Given the description of an element on the screen output the (x, y) to click on. 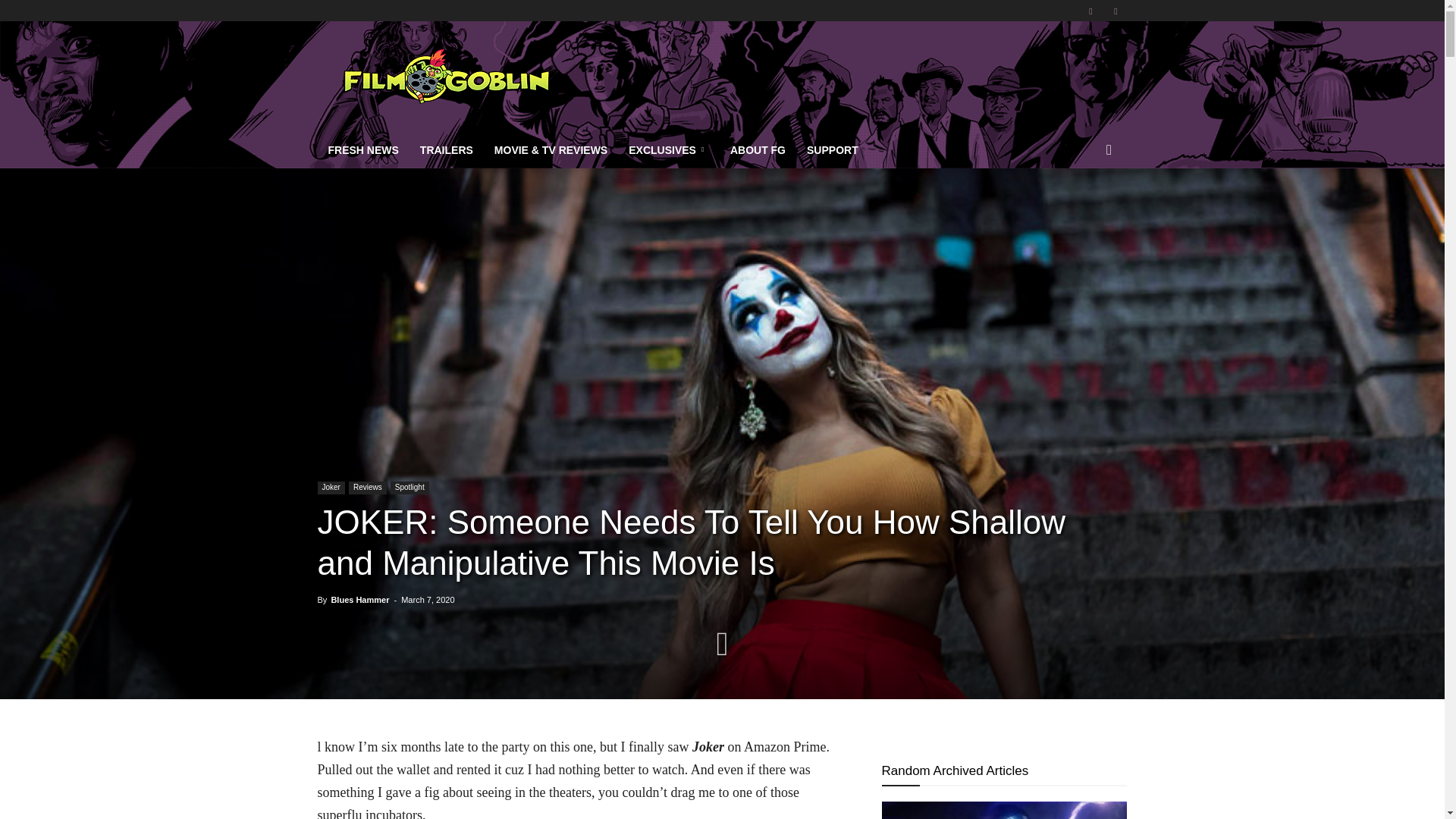
Twitter (1114, 10)
Facebook (1090, 10)
Film Goblin (445, 76)
